Given the description of an element on the screen output the (x, y) to click on. 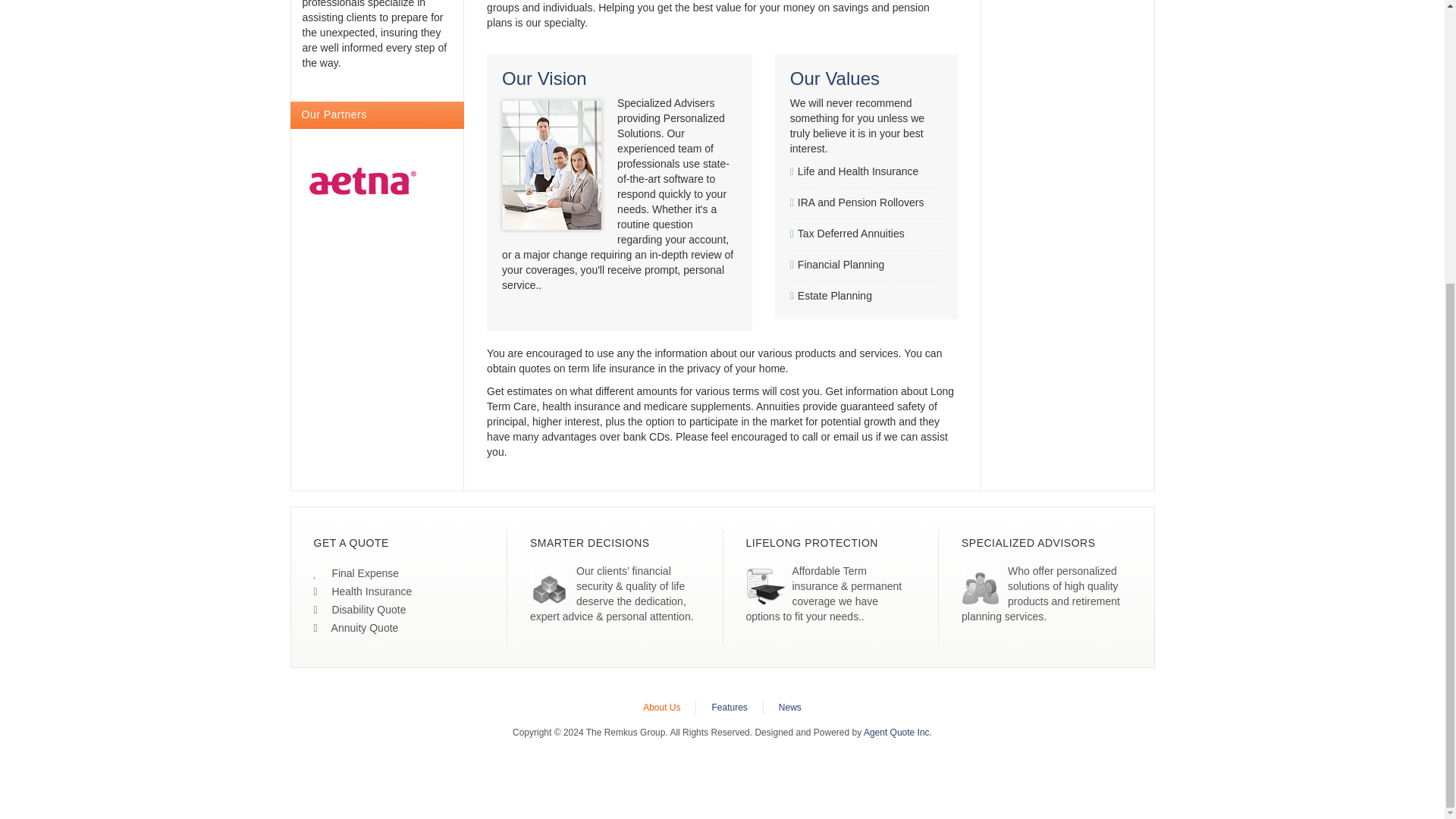
Annuity Quote (356, 627)
Sample link (360, 609)
Life Quote (356, 573)
Individual Health Quote (363, 591)
Agent Quote Inc (896, 732)
